Given the description of an element on the screen output the (x, y) to click on. 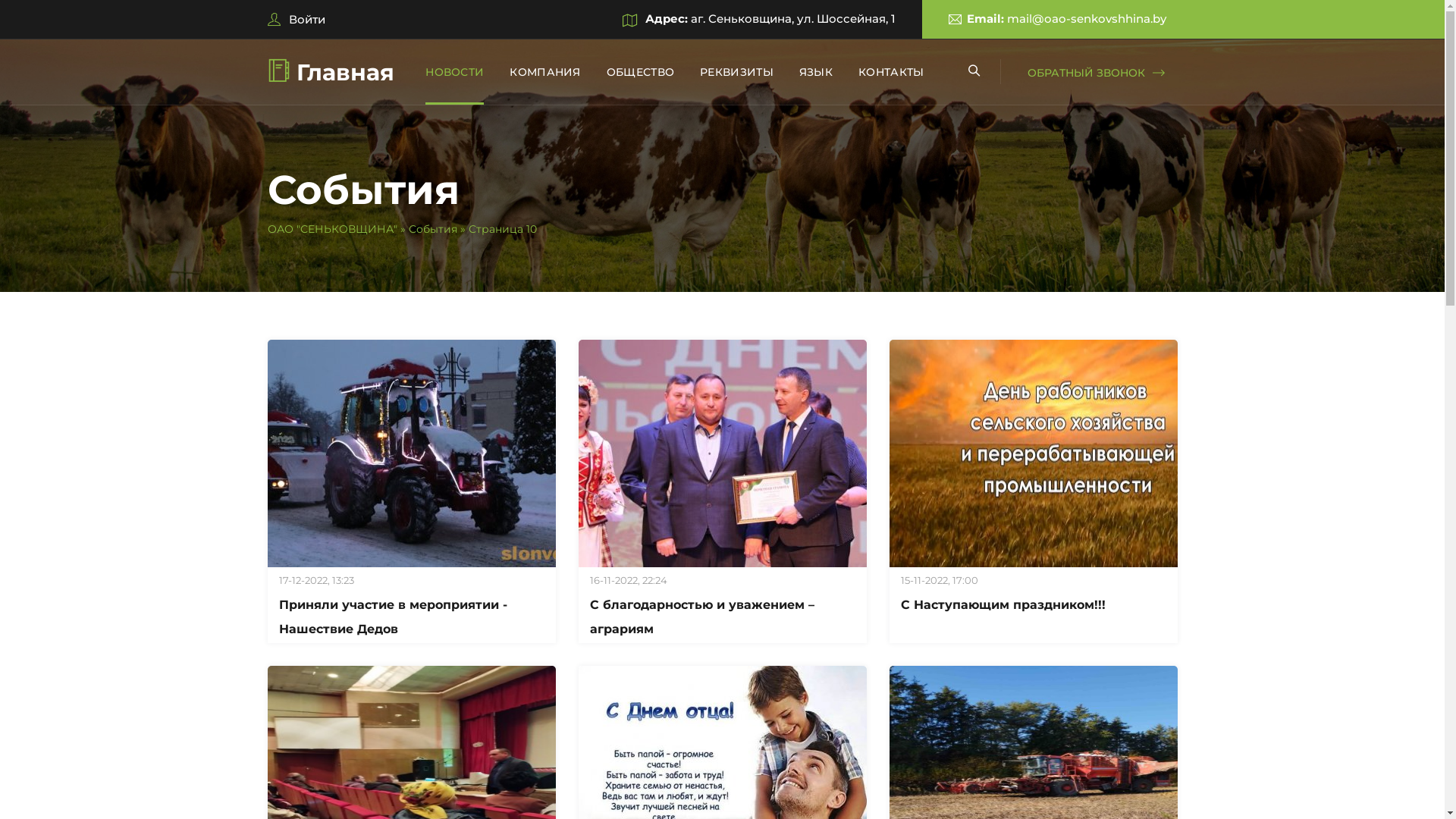
mail@oao-senkovshhina.by Element type: text (1086, 18)
